Given the description of an element on the screen output the (x, y) to click on. 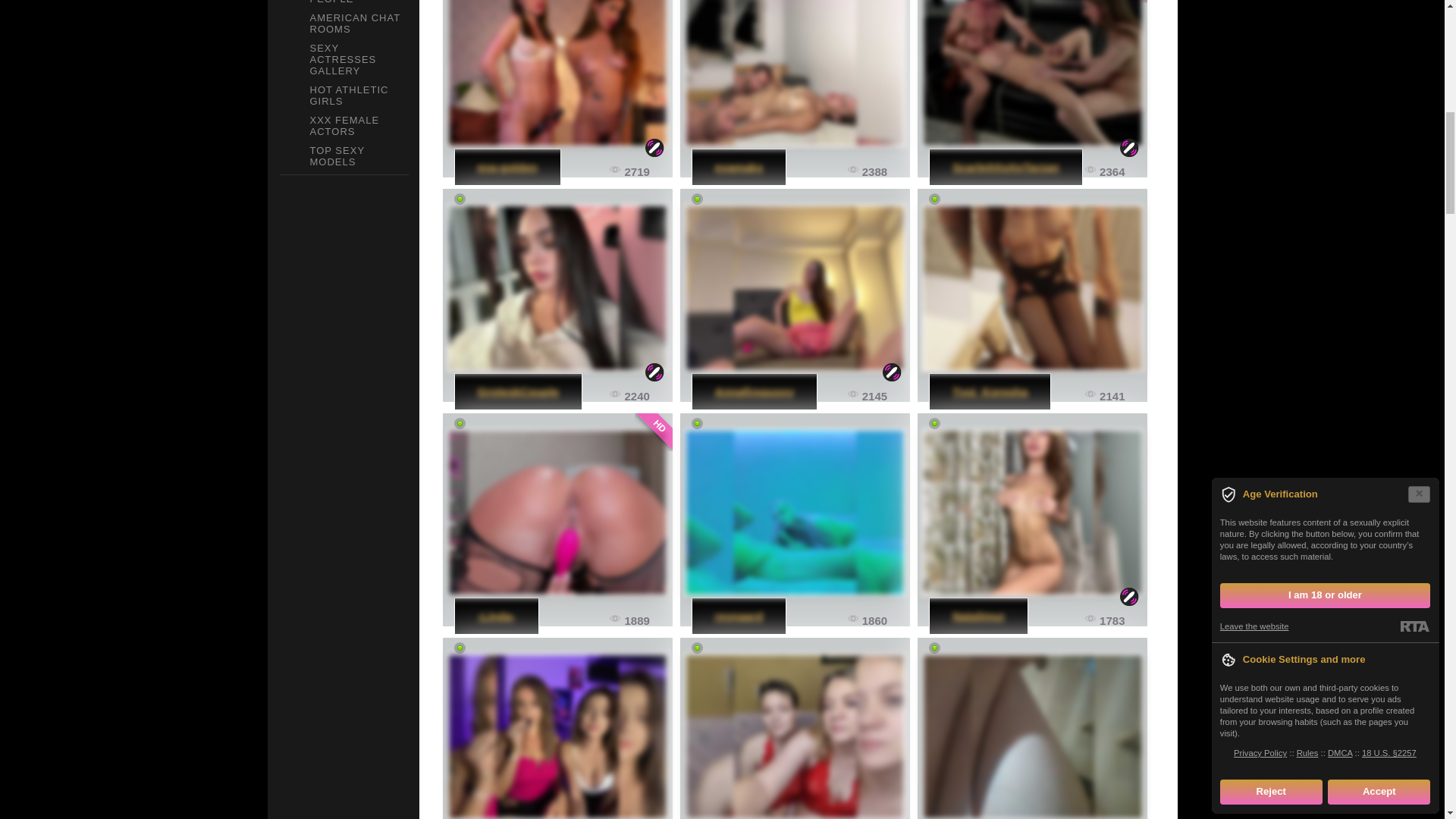
Natalimur (978, 615)
GroteskCouple (556, 287)
-Linda- (496, 615)
reynaard (738, 615)
GroteskCouple (518, 391)
ScarlettXoXoTarzan (1005, 166)
Annafirepussy (753, 391)
eva-golden (556, 74)
evamaks (794, 74)
ScarlettXoXoTarzan (1031, 74)
